Given the description of an element on the screen output the (x, y) to click on. 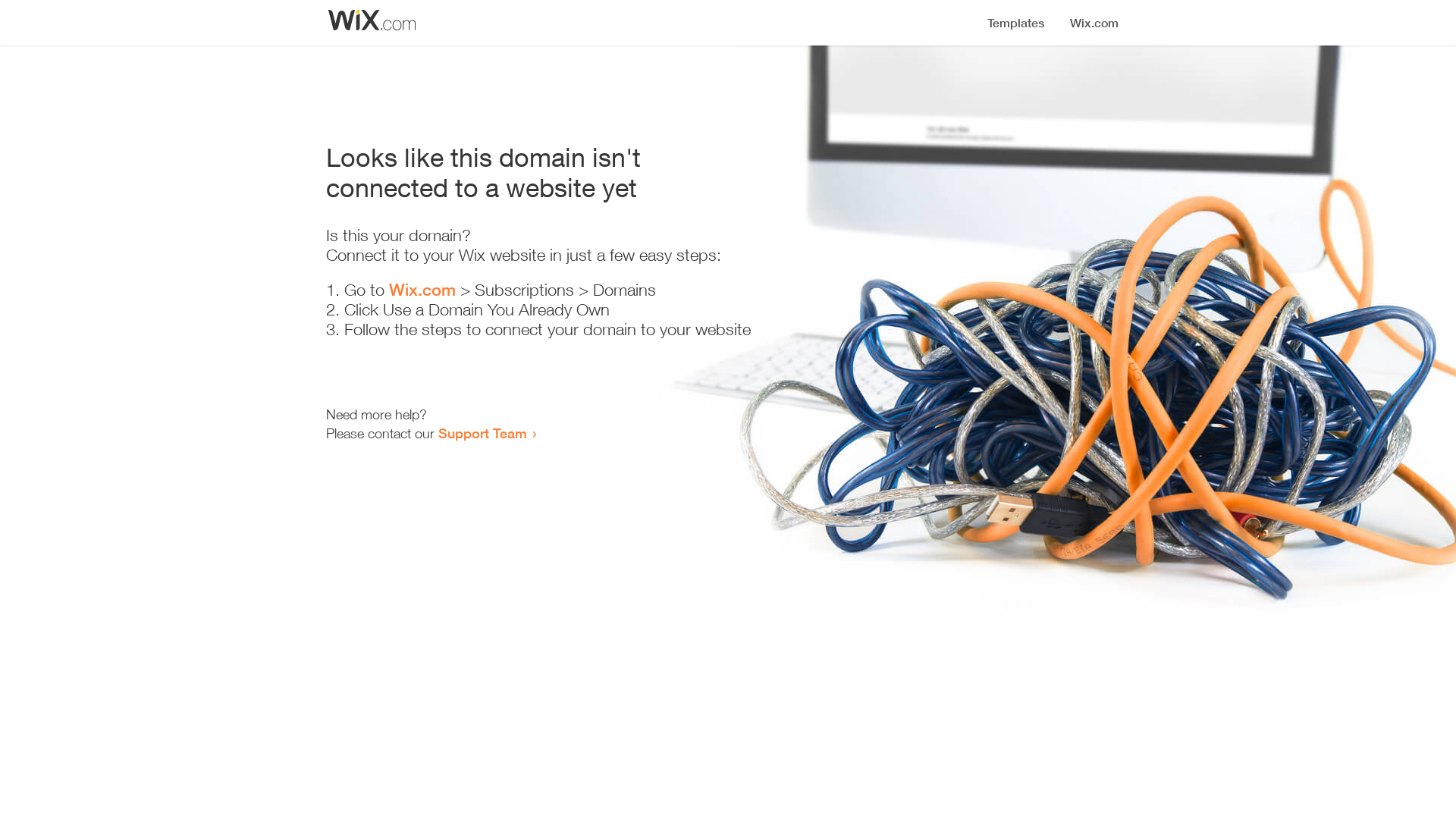
Support Team Element type: text (482, 432)
Wix.com Element type: text (422, 289)
